Given the description of an element on the screen output the (x, y) to click on. 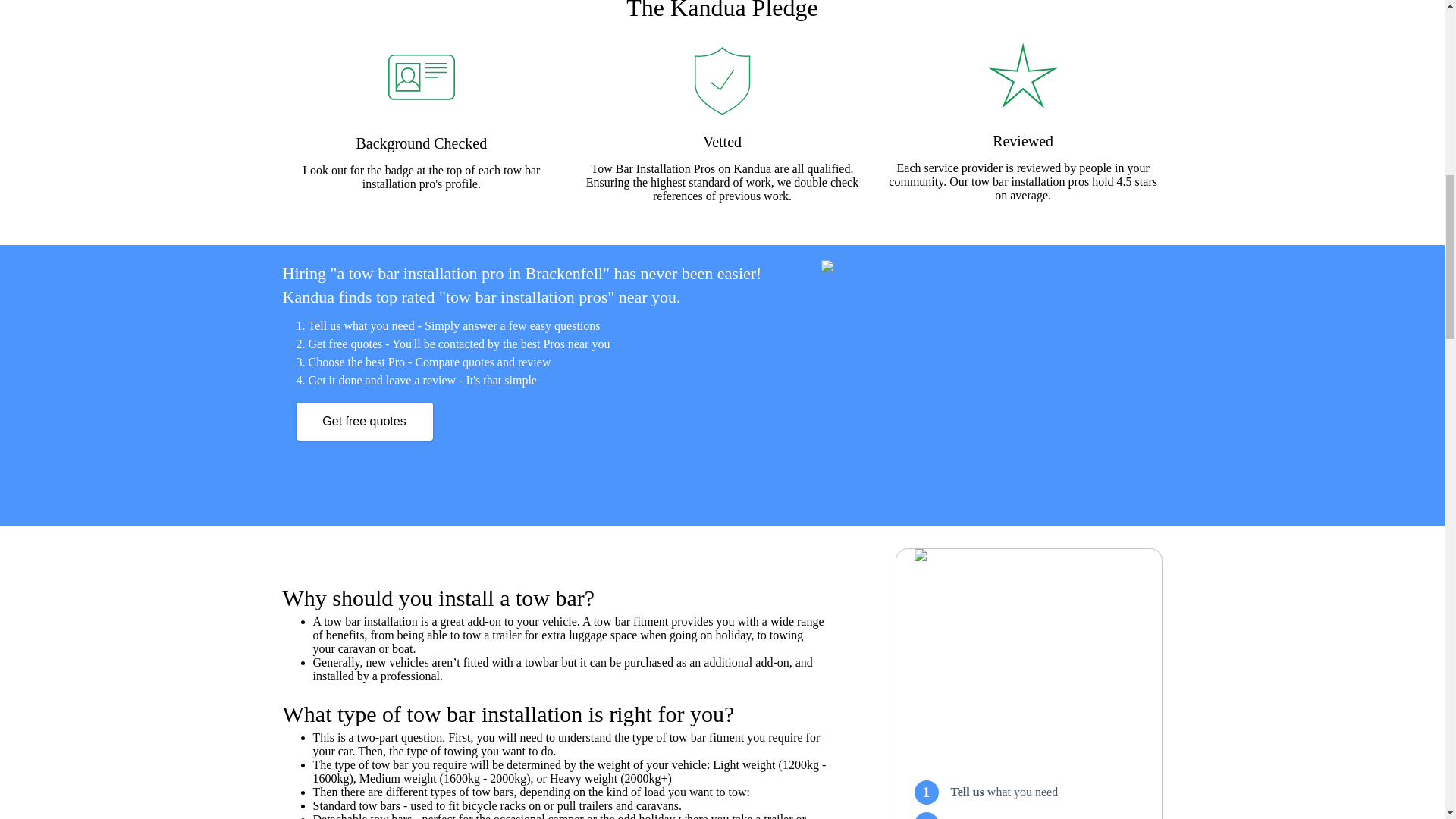
Get free quotes (363, 421)
